Given the description of an element on the screen output the (x, y) to click on. 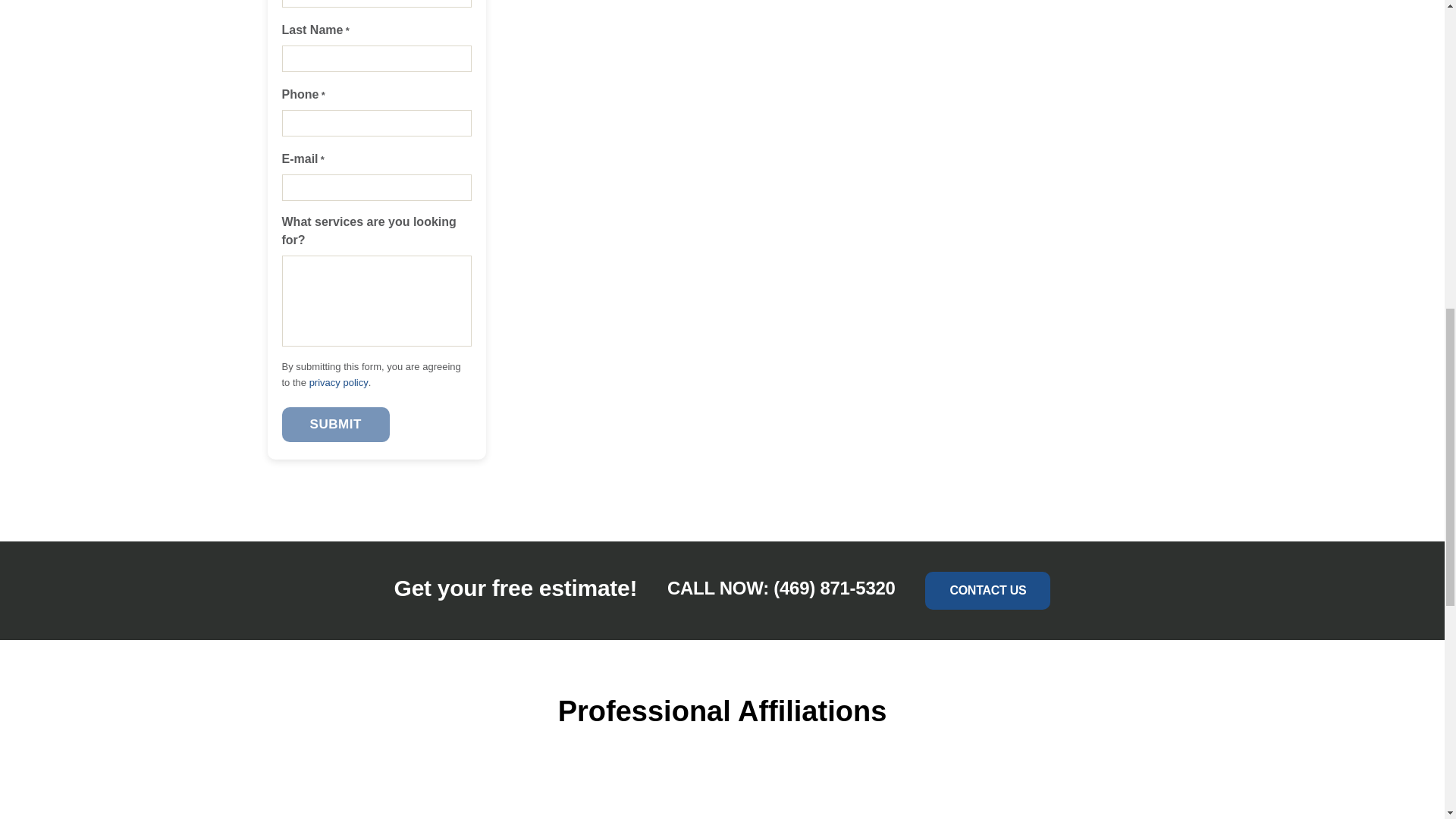
Submit (336, 424)
